Given the description of an element on the screen output the (x, y) to click on. 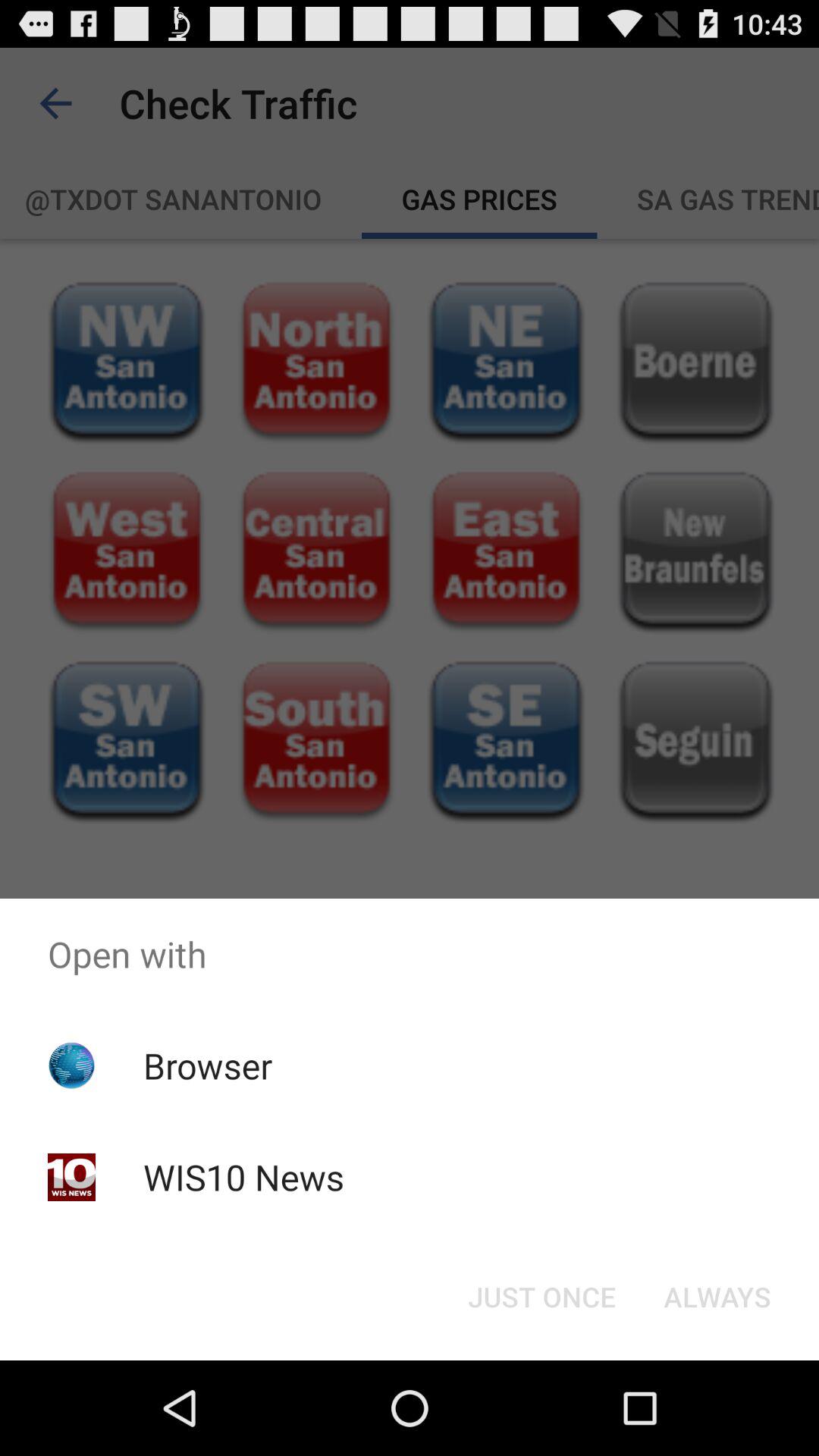
swipe until wis10 news app (243, 1176)
